Given the description of an element on the screen output the (x, y) to click on. 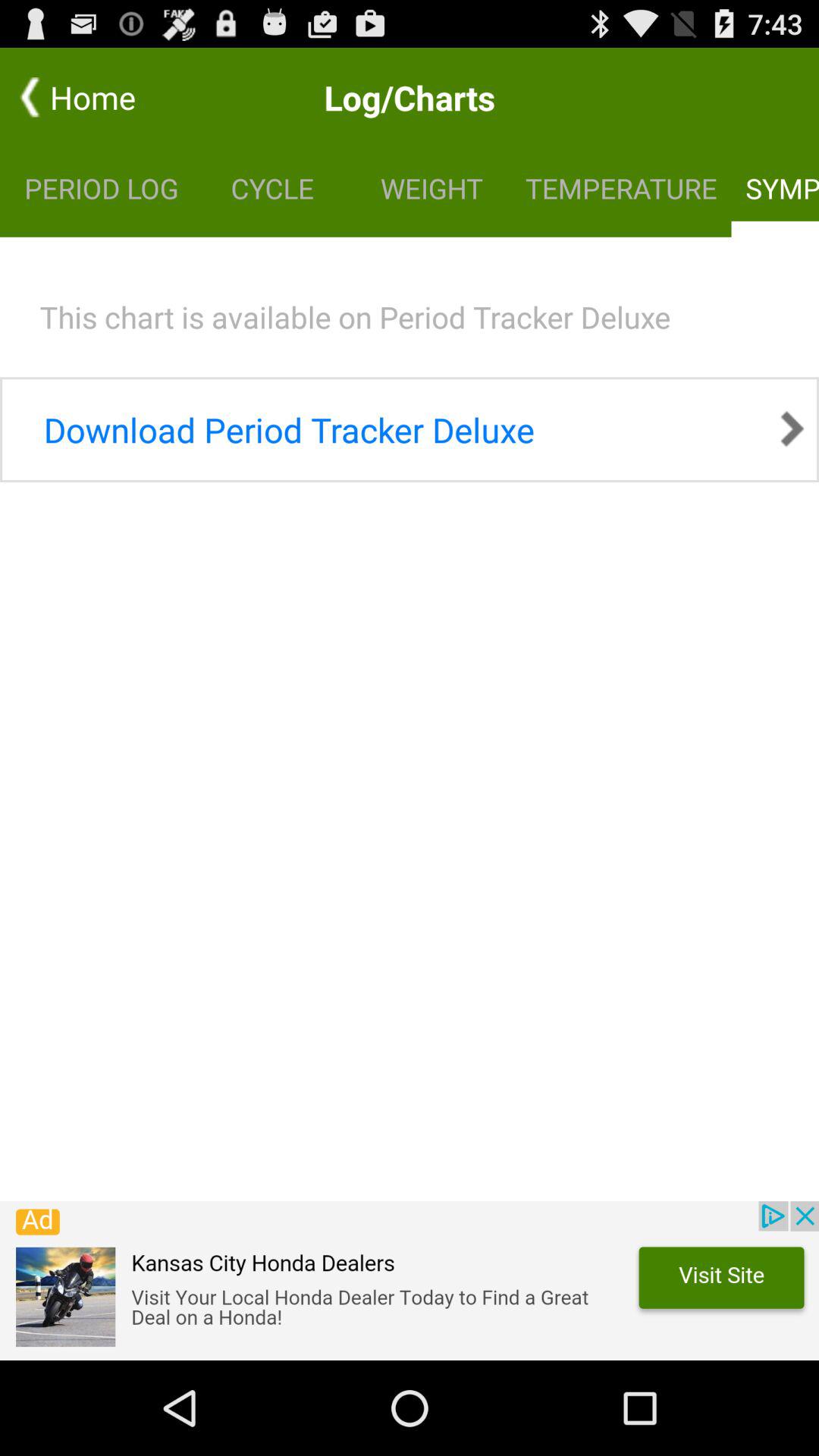
open advertisement (409, 1280)
